Given the description of an element on the screen output the (x, y) to click on. 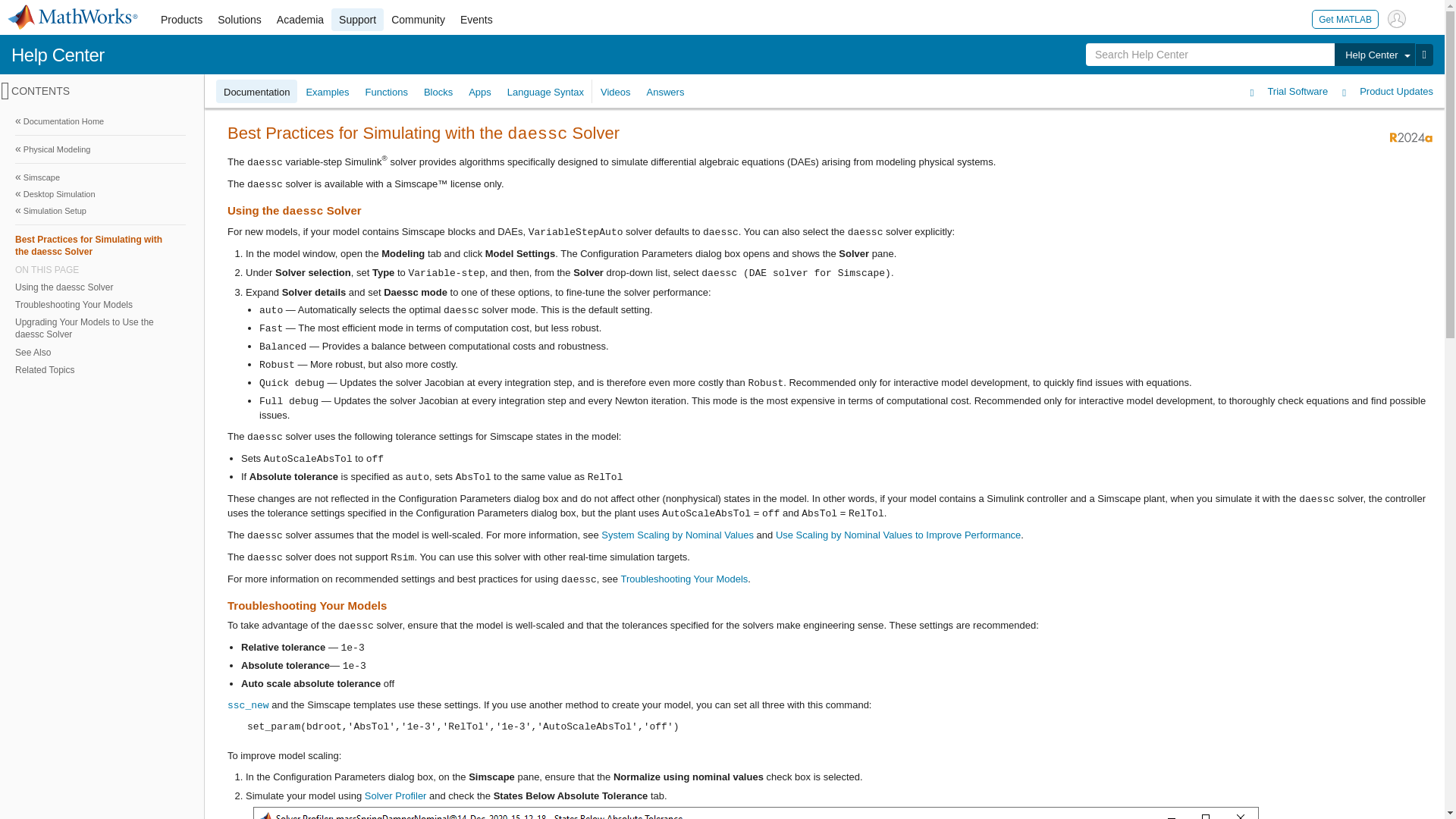
Help Center (57, 54)
Using the daessc Solver (98, 286)
ON THIS PAGE (100, 269)
Physical Modeling (100, 149)
Sign In to Your MathWorks Account (1396, 18)
Products (180, 19)
Documentation Home (100, 121)
Support (357, 19)
Simulation Setup (100, 210)
Simscape (100, 176)
Desktop Simulation (100, 193)
Events (476, 19)
Get MATLAB (1344, 18)
Best Practices for Simulating with the daessc Solver (100, 245)
